Given the description of an element on the screen output the (x, y) to click on. 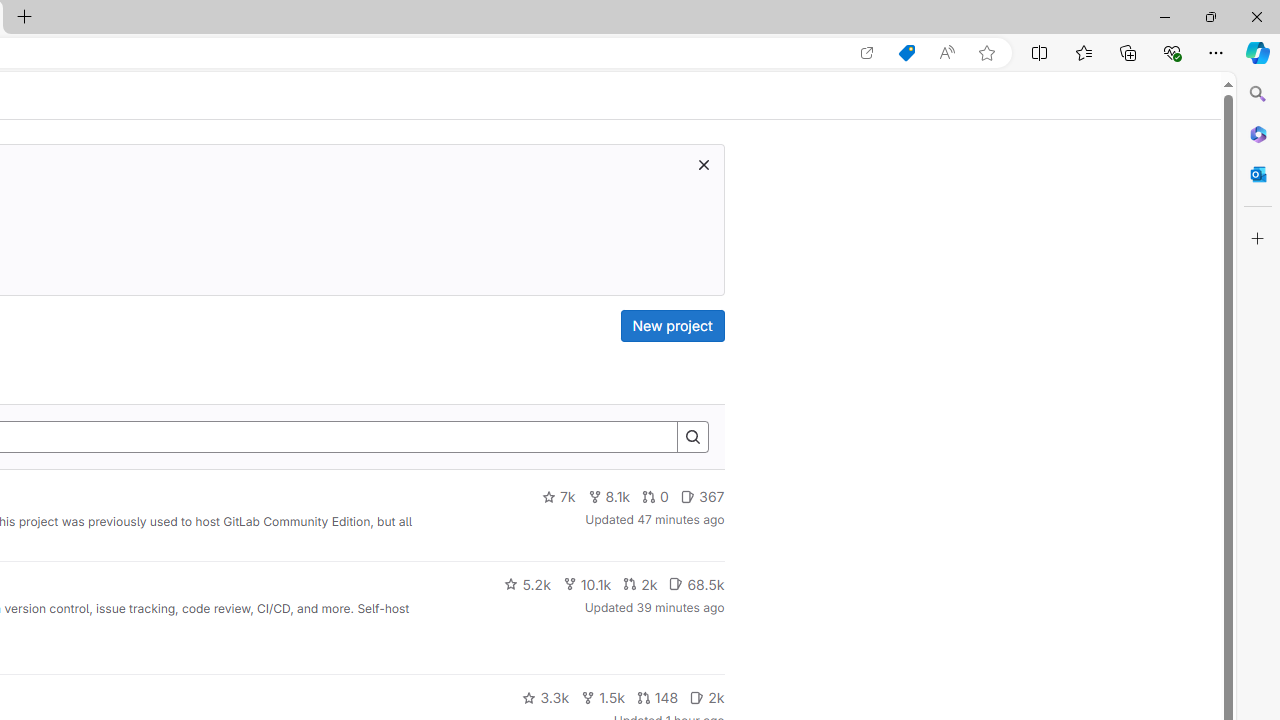
Class: s14 gl-mr-2 (697, 696)
3.3k (545, 697)
8.1k (609, 497)
0 (655, 497)
68.5k (696, 583)
1.5k (602, 697)
Open in app (867, 53)
148 (657, 697)
Shopping in Microsoft Edge (906, 53)
